Given the description of an element on the screen output the (x, y) to click on. 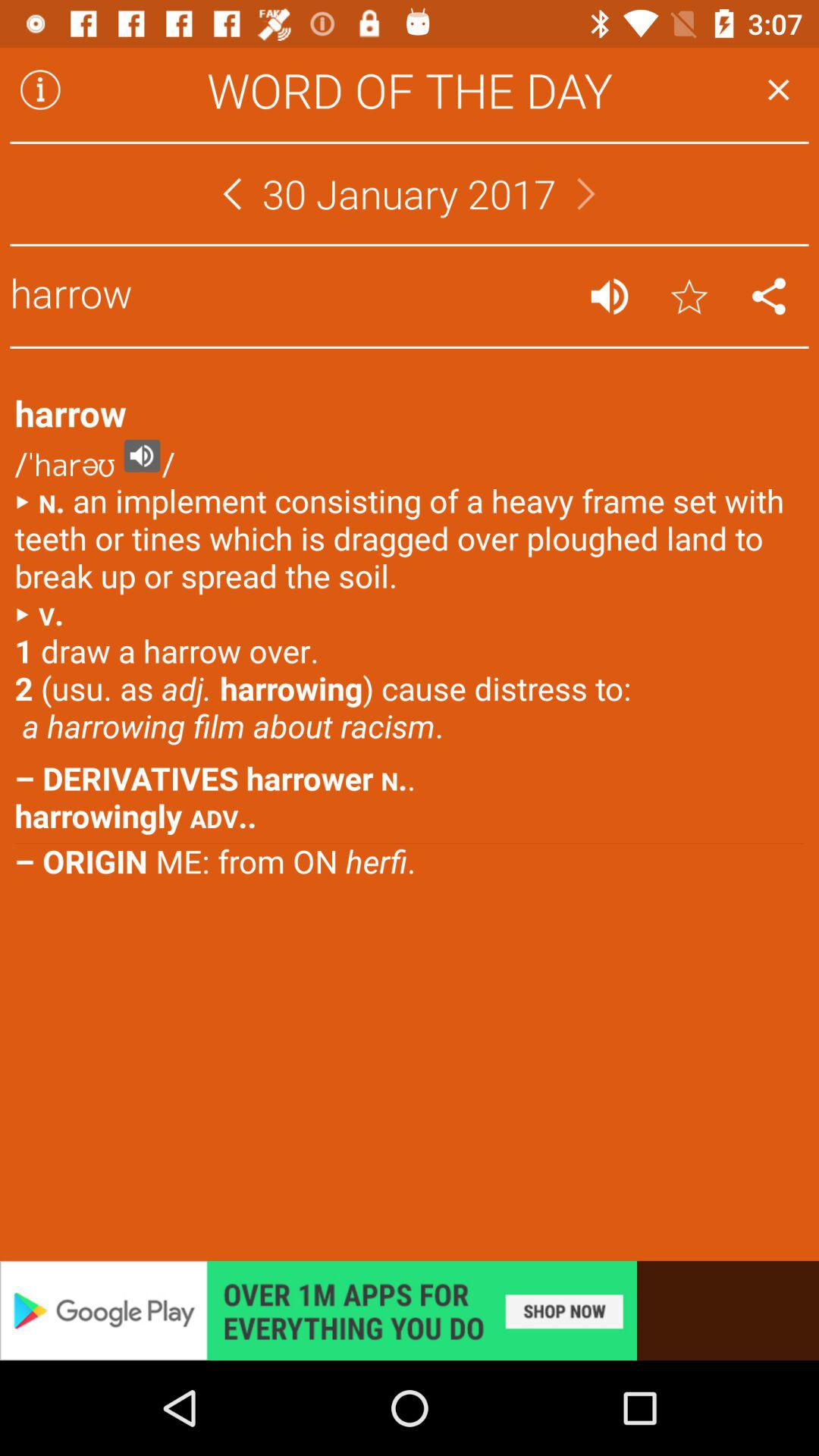
go to google play (409, 1310)
